Given the description of an element on the screen output the (x, y) to click on. 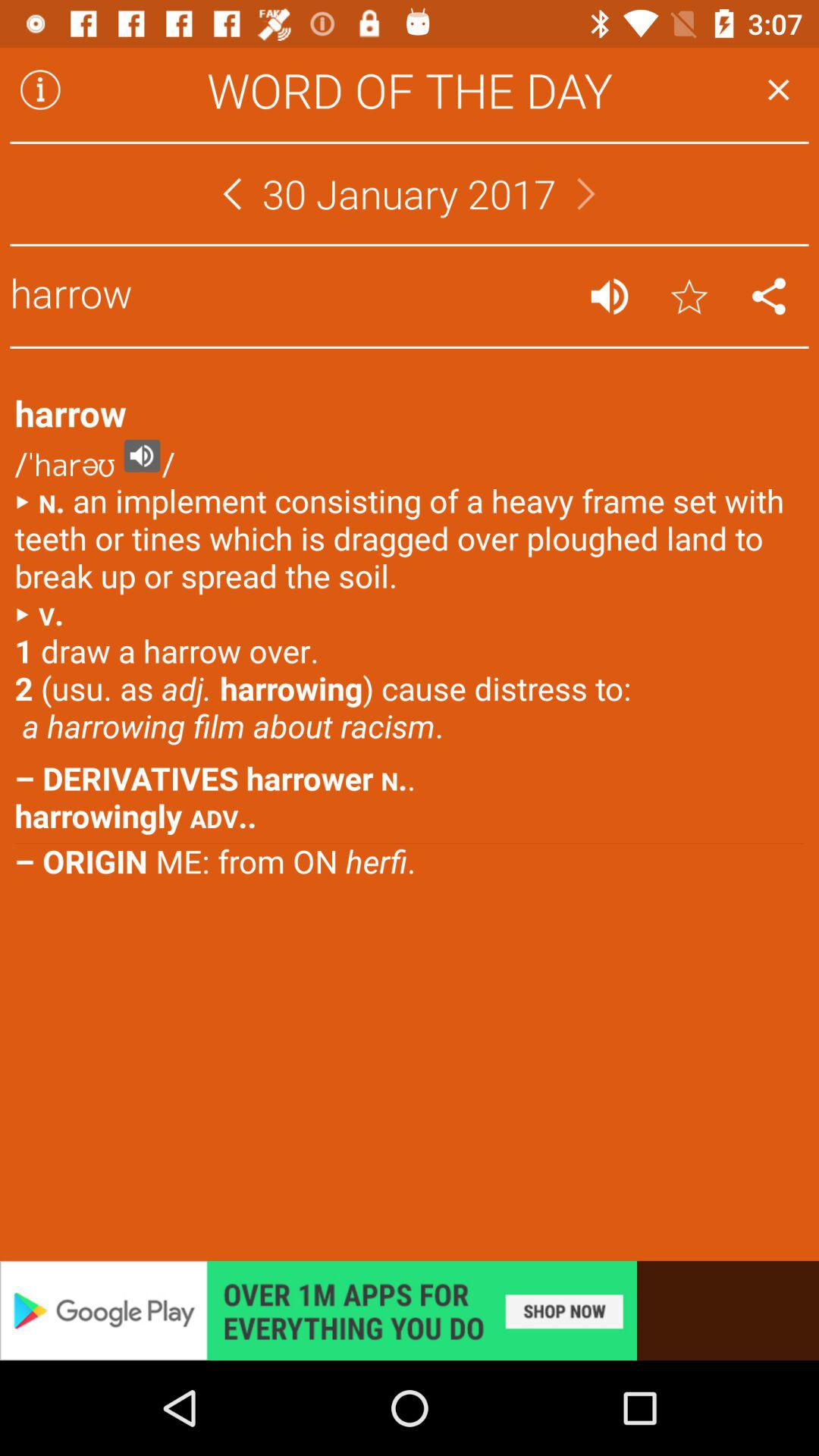
go to google play (409, 1310)
